Given the description of an element on the screen output the (x, y) to click on. 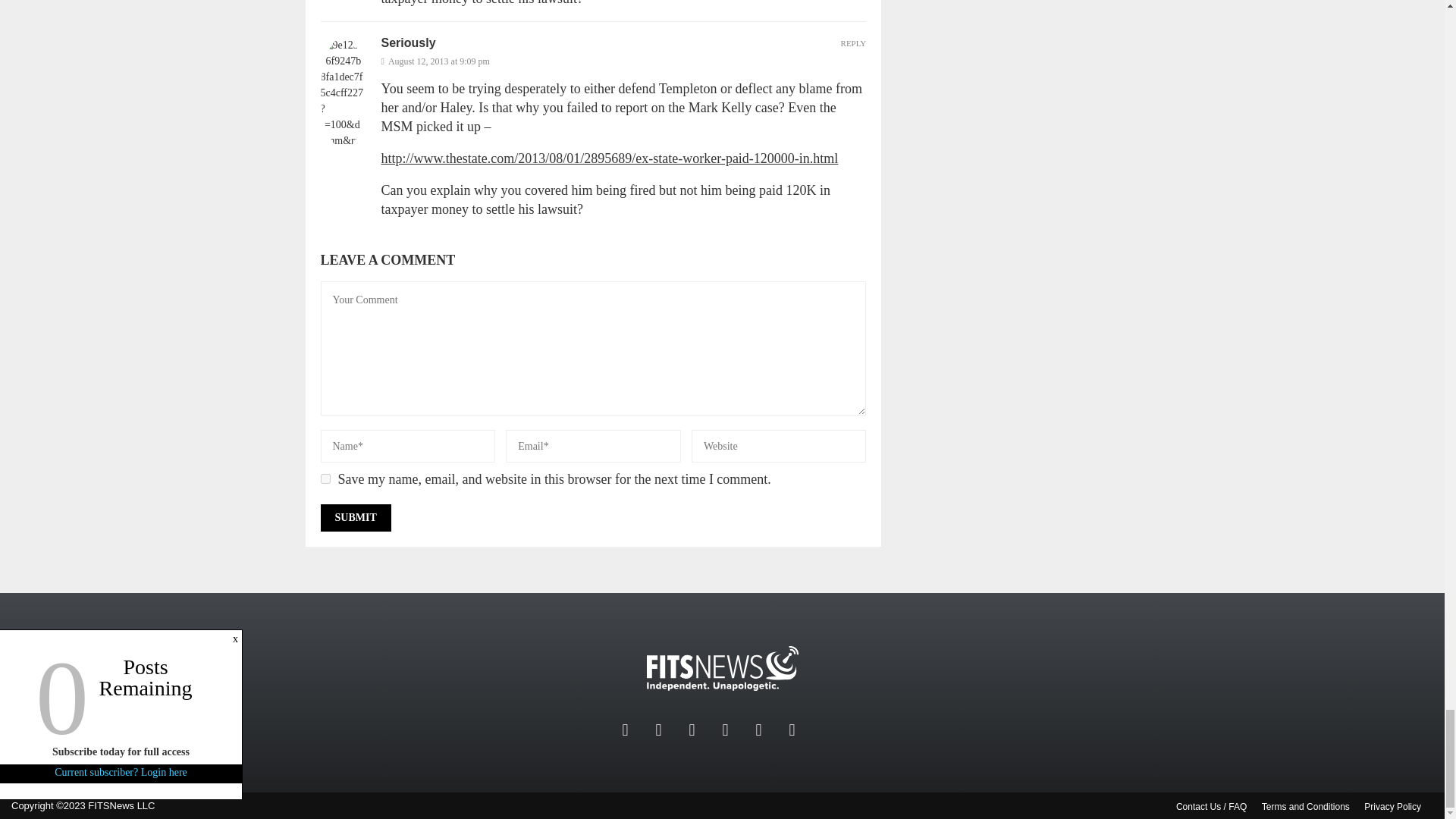
yes (325, 479)
Submit (355, 517)
